Given the description of an element on the screen output the (x, y) to click on. 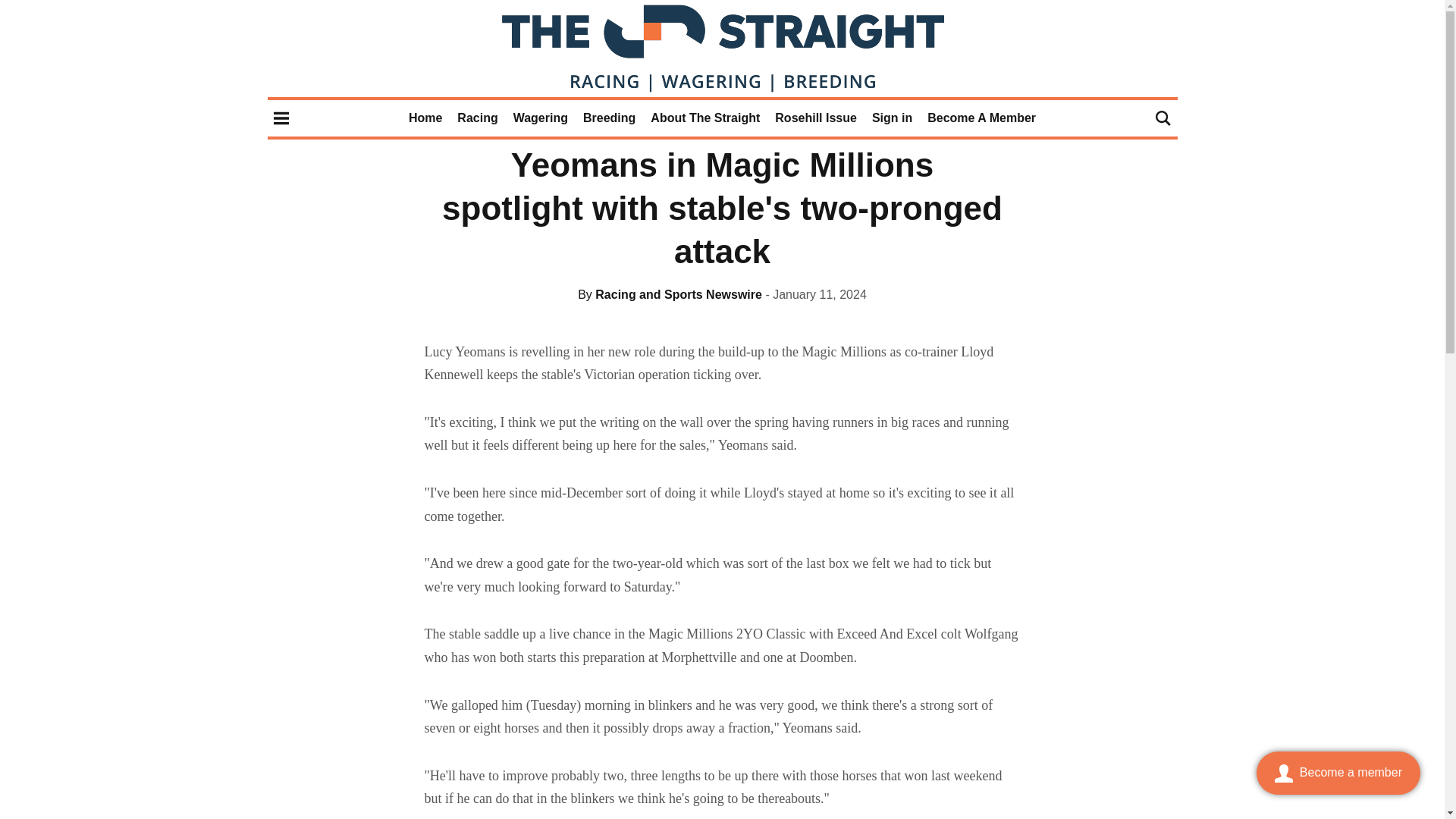
11 January, 2024 (815, 294)
By Racing and Sports Newswire (669, 294)
Racing (477, 117)
Become A Member (981, 117)
Breeding (608, 117)
Rosehill Issue (815, 117)
Wagering (540, 117)
Home (425, 117)
About The Straight (705, 117)
Sign in (892, 117)
